Given the description of an element on the screen output the (x, y) to click on. 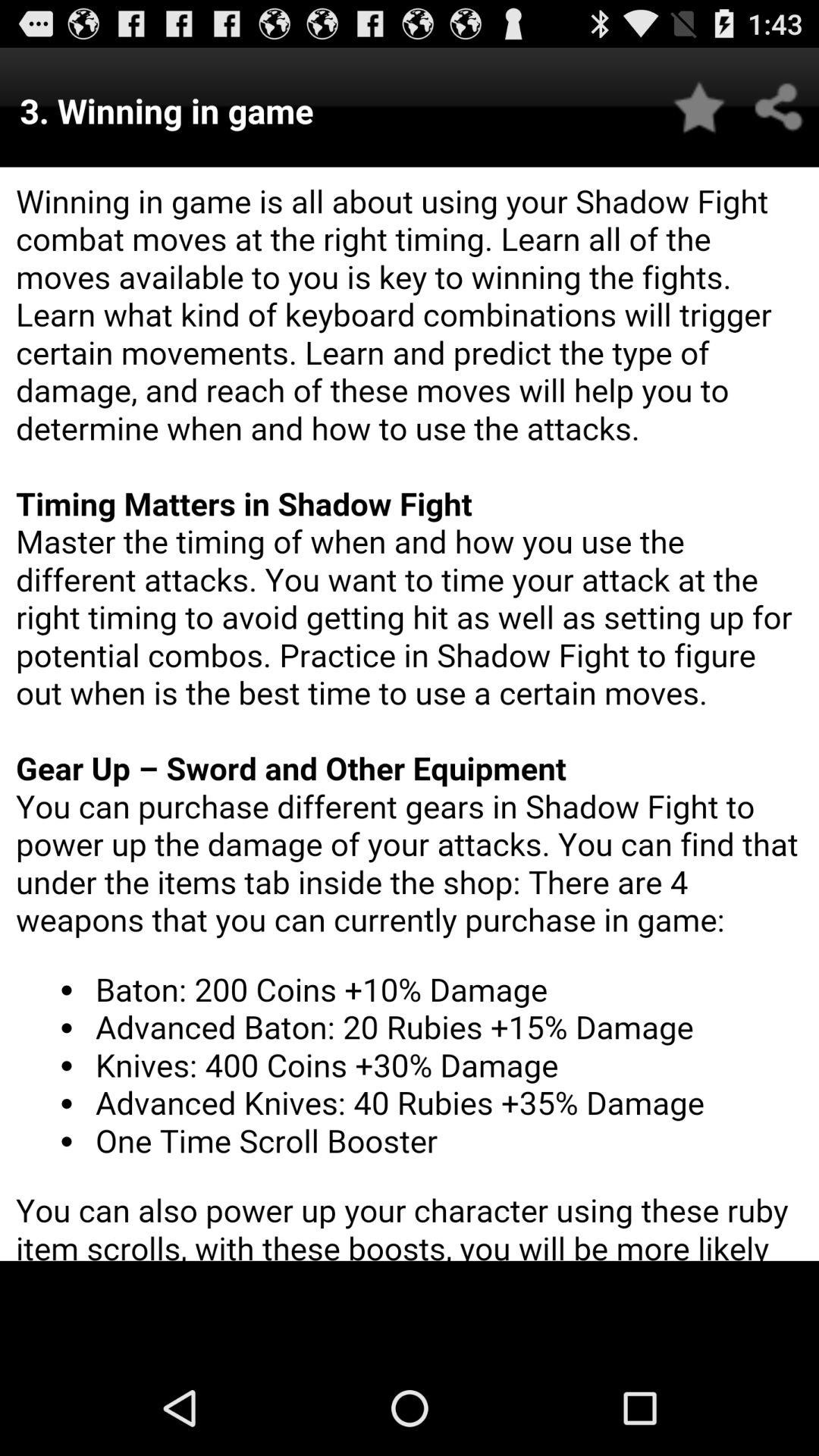
favorite article (699, 107)
